Given the description of an element on the screen output the (x, y) to click on. 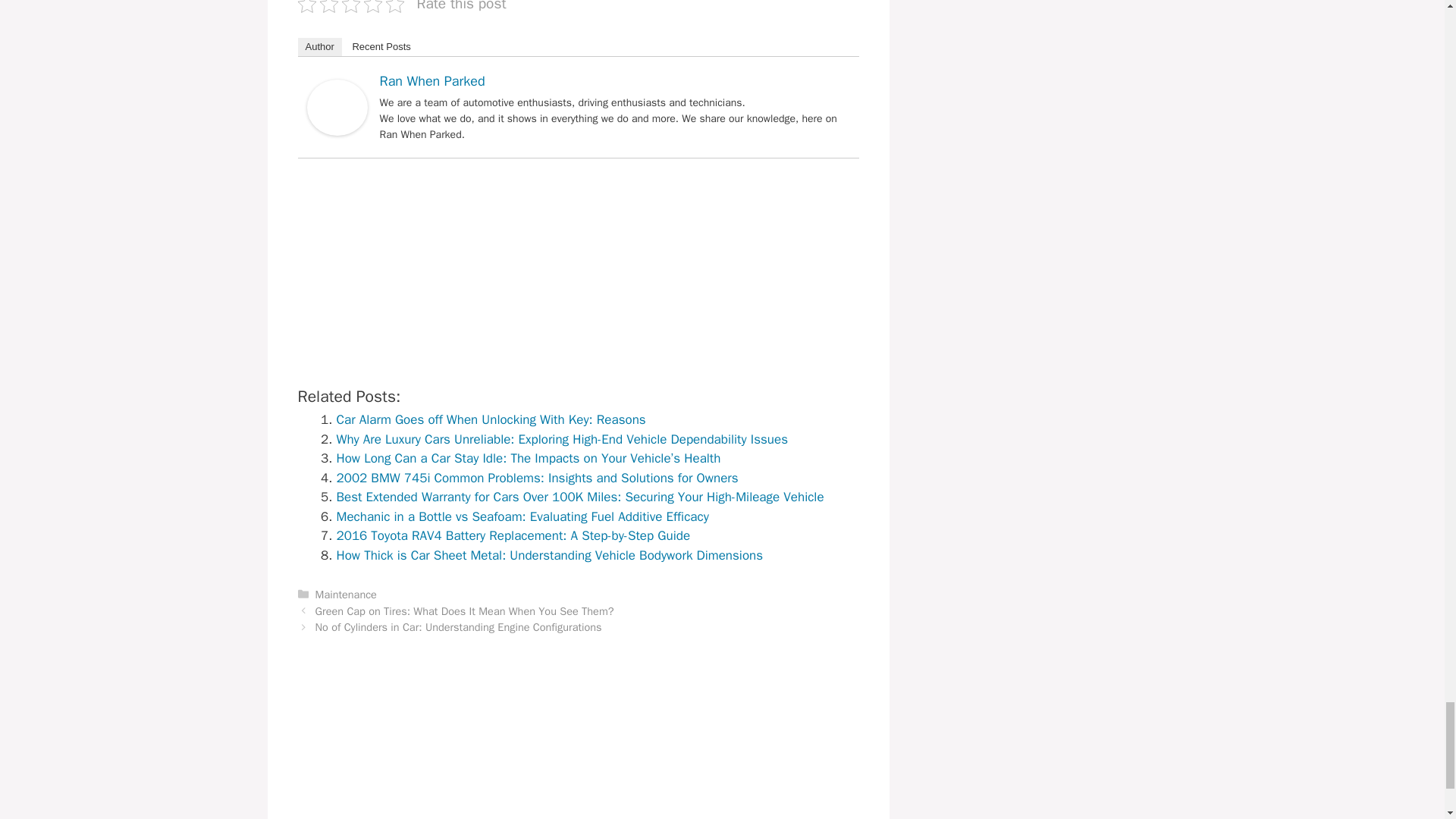
2016 Toyota RAV4 Battery Replacement: A Step-by-Step Guide (513, 535)
Car Alarm Goes off When Unlocking With Key: Reasons (491, 419)
Ran When Parked (335, 131)
